Given the description of an element on the screen output the (x, y) to click on. 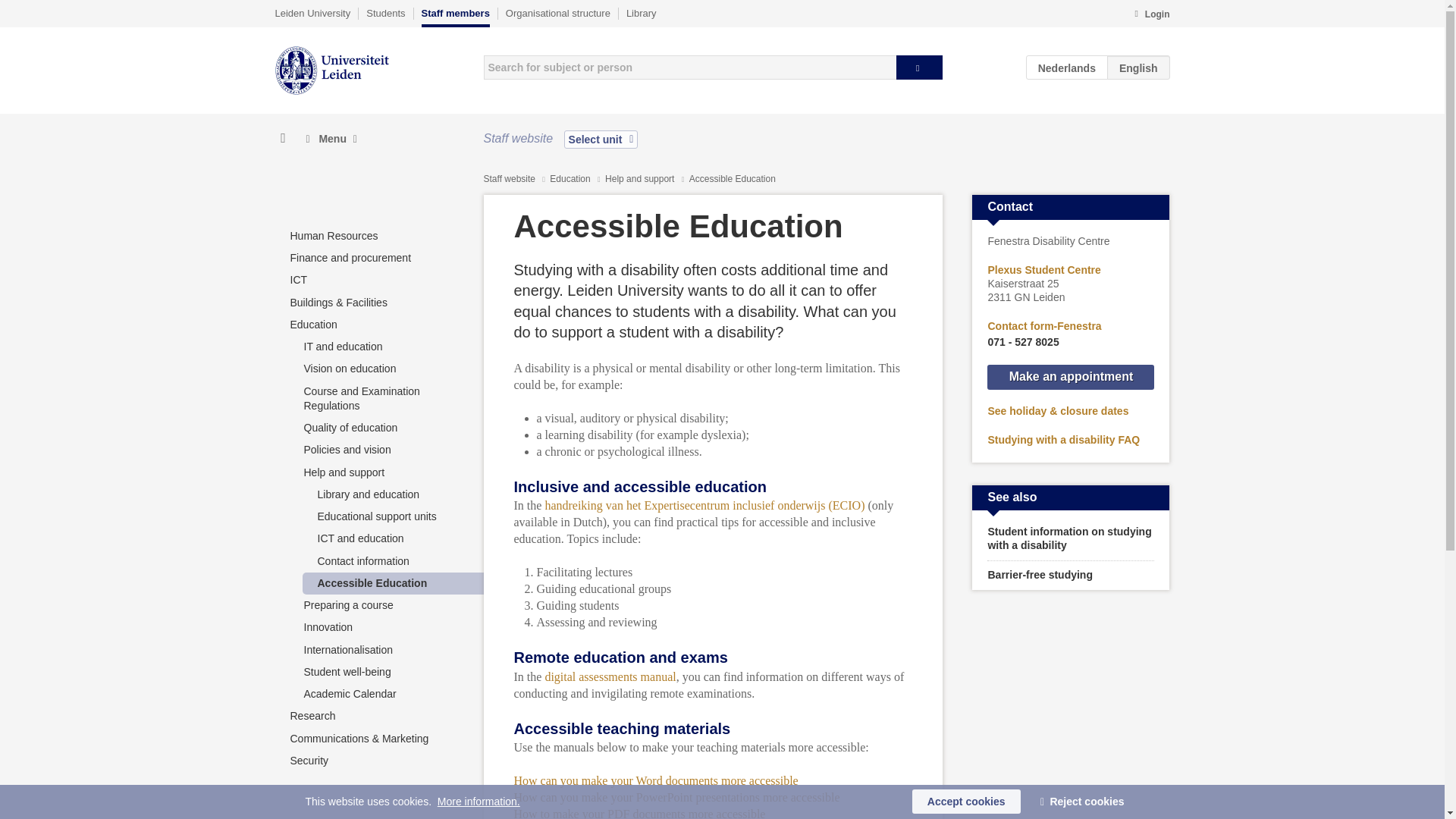
Help and support (641, 178)
Search (919, 67)
Library (641, 13)
Select unit (601, 139)
Staff website (509, 178)
Login (1151, 14)
Organisational structure (557, 13)
Leiden University (312, 13)
Students (385, 13)
Staff members (455, 17)
Human Resources (333, 235)
Education (571, 178)
Menu (330, 139)
Human Resources (333, 235)
NL (1067, 67)
